Given the description of an element on the screen output the (x, y) to click on. 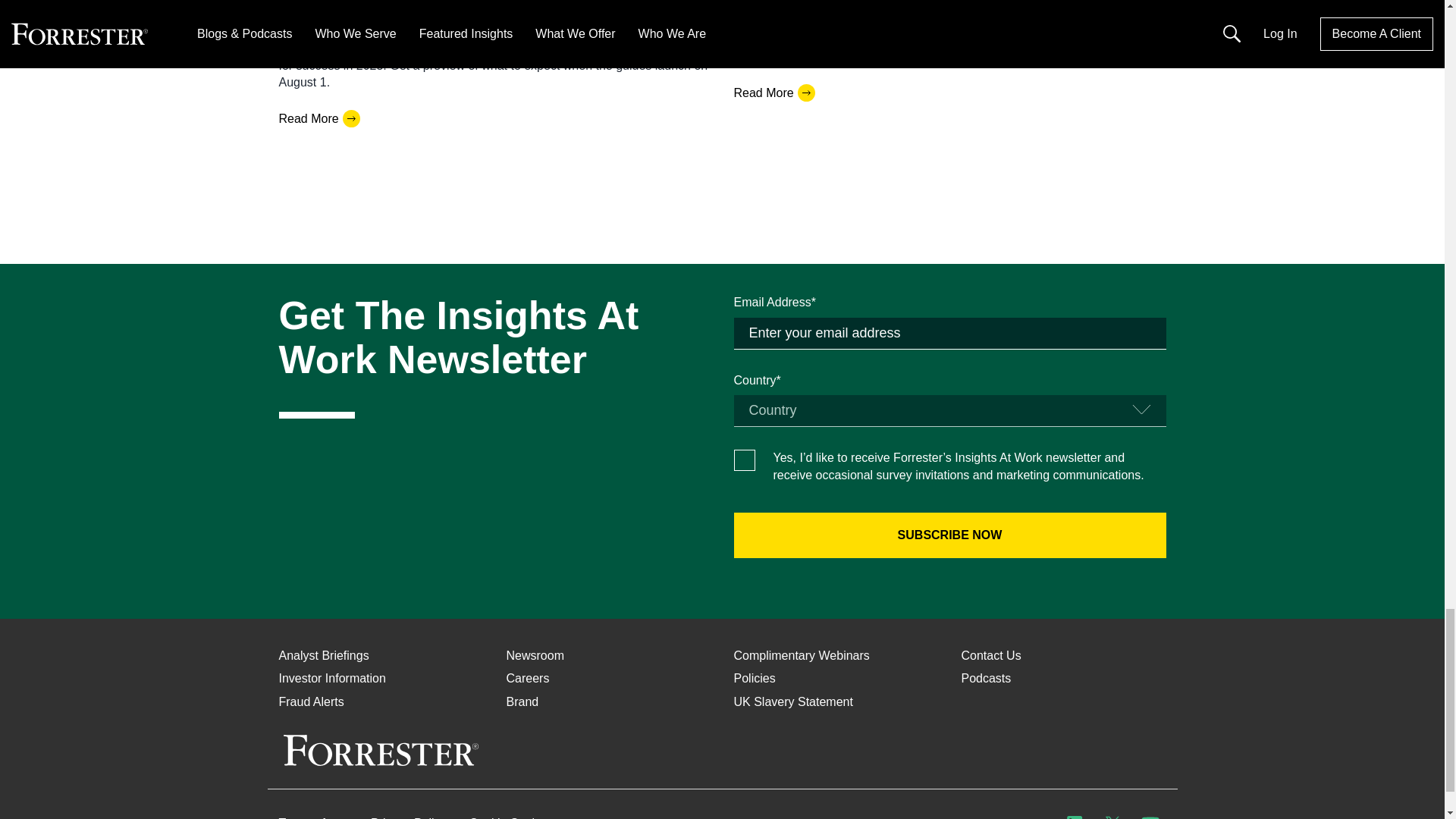
Subscribe Now (949, 534)
